Given the description of an element on the screen output the (x, y) to click on. 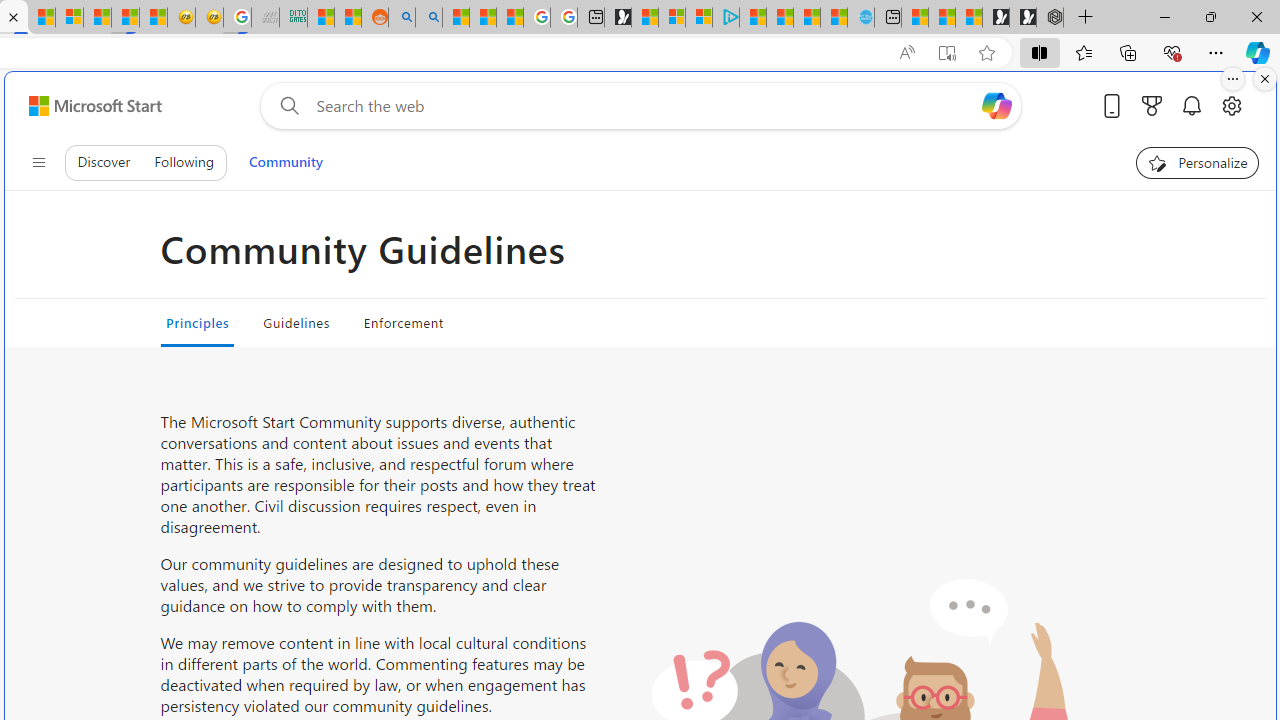
Community (285, 161)
